Given the description of an element on the screen output the (x, y) to click on. 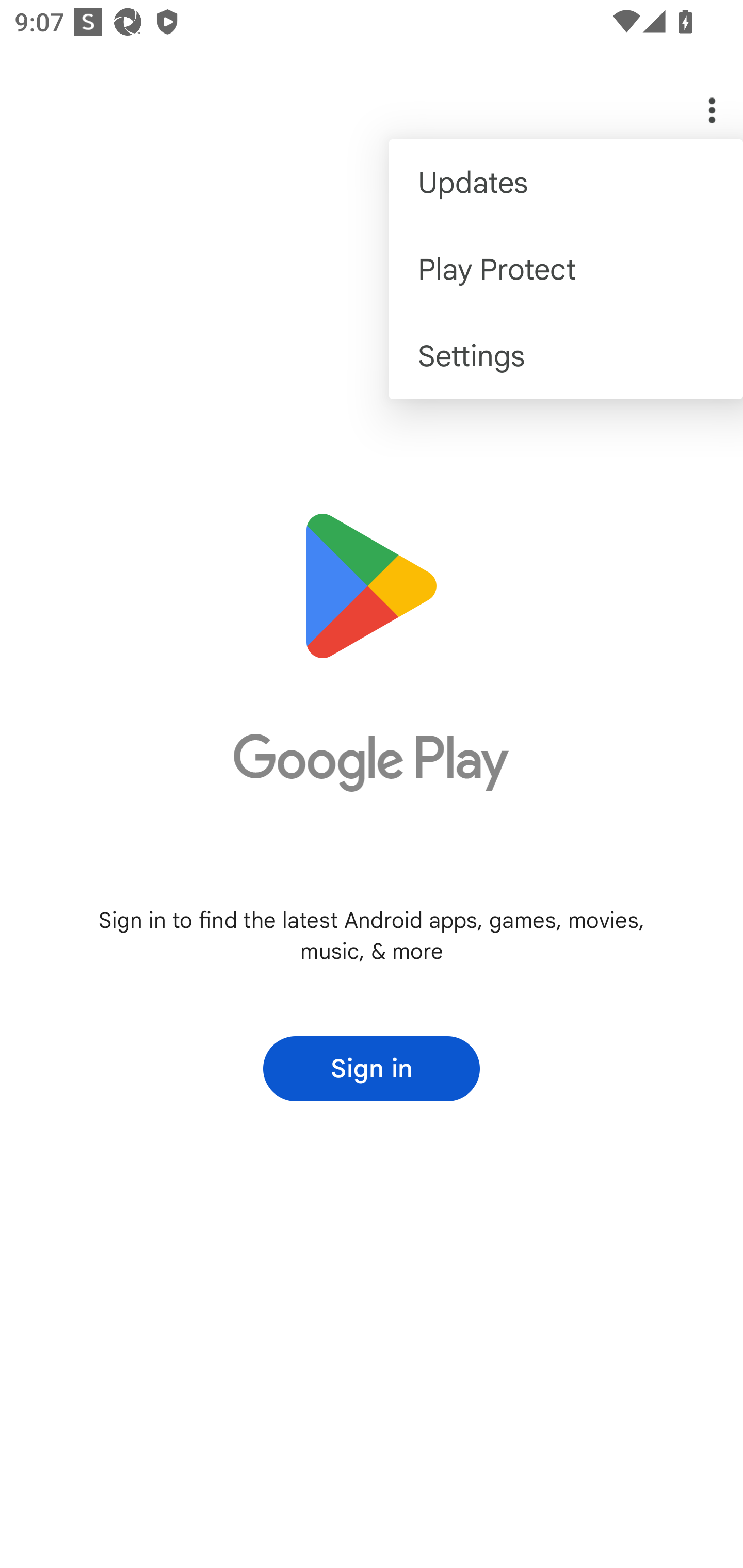
Updates (566, 182)
Play Protect (566, 268)
Settings (566, 355)
